Given the description of an element on the screen output the (x, y) to click on. 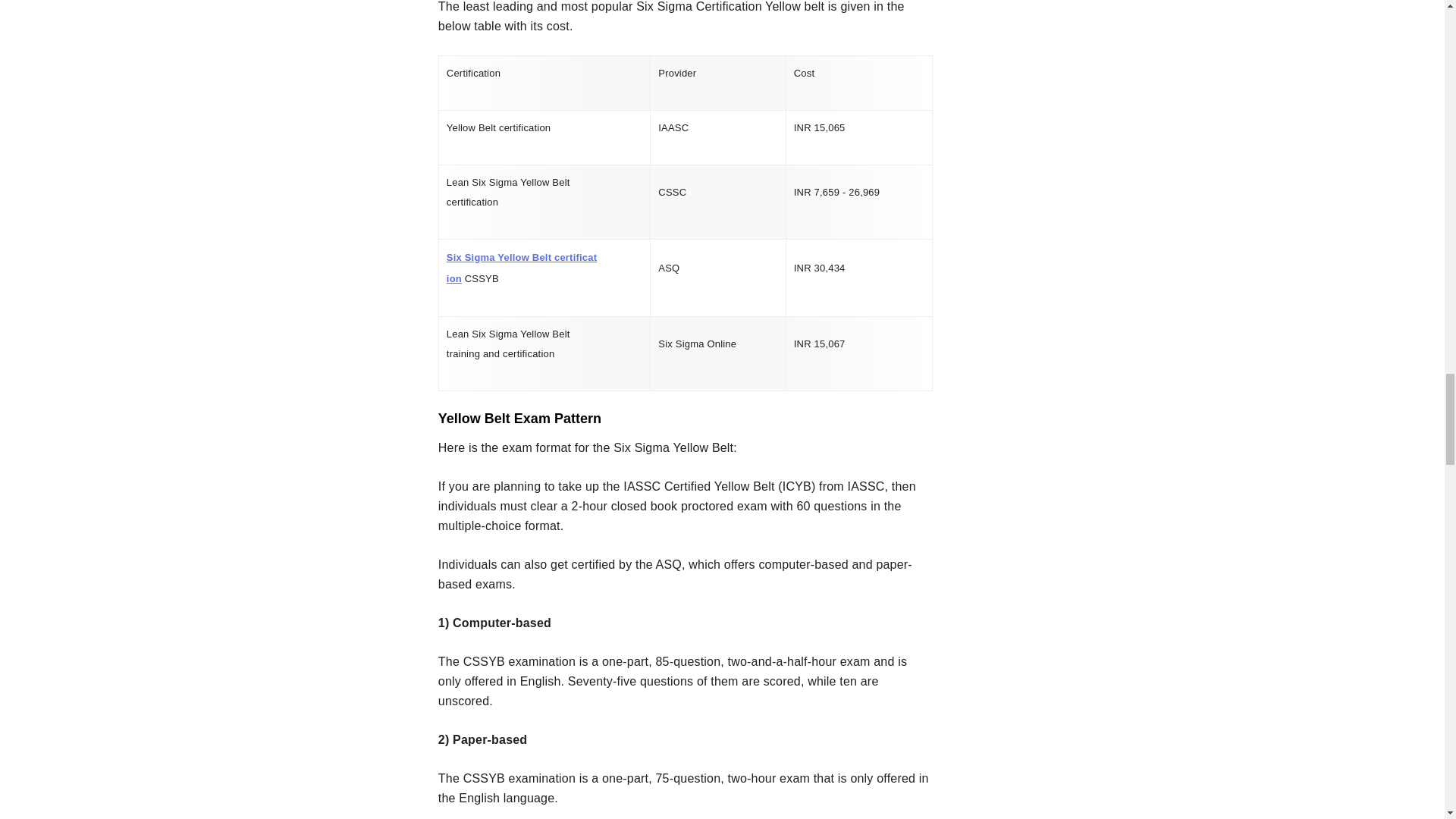
Six Sigma Yellow Belt certification (521, 267)
